Given the description of an element on the screen output the (x, y) to click on. 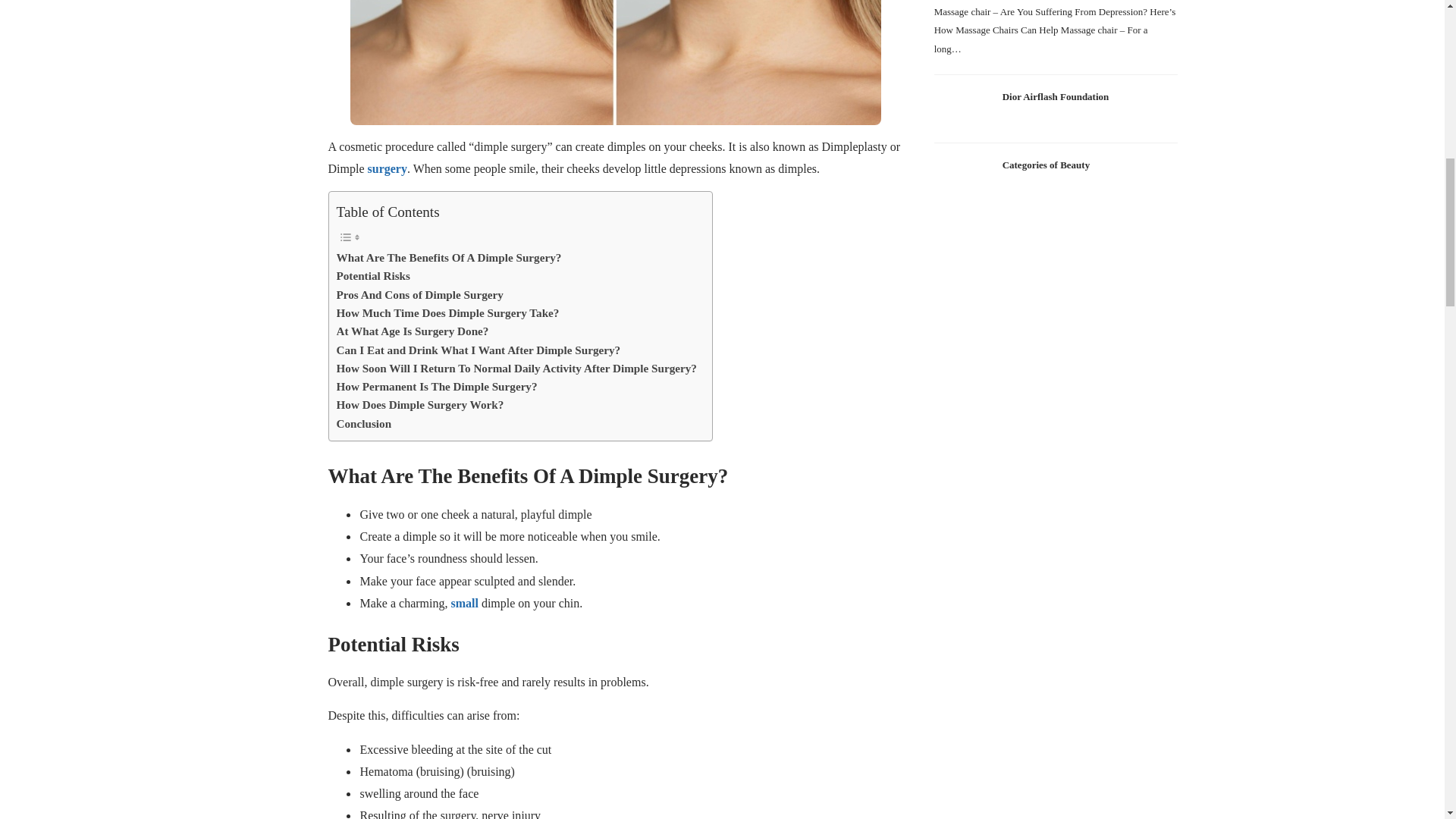
How Much Time Does Dimple Surgery Take? (447, 312)
What Are The Benefits Of A Dimple Surgery? (449, 257)
Can I Eat and Drink What I Want After Dimple Surgery? (478, 350)
How Permanent Is The Dimple Surgery? (436, 386)
At What Age Is Surgery Done? (412, 331)
How Does Dimple Surgery Work? (419, 404)
Conclusion (363, 423)
Potential Risks (373, 275)
Pros And Cons of Dimple Surgery (419, 294)
